Given the description of an element on the screen output the (x, y) to click on. 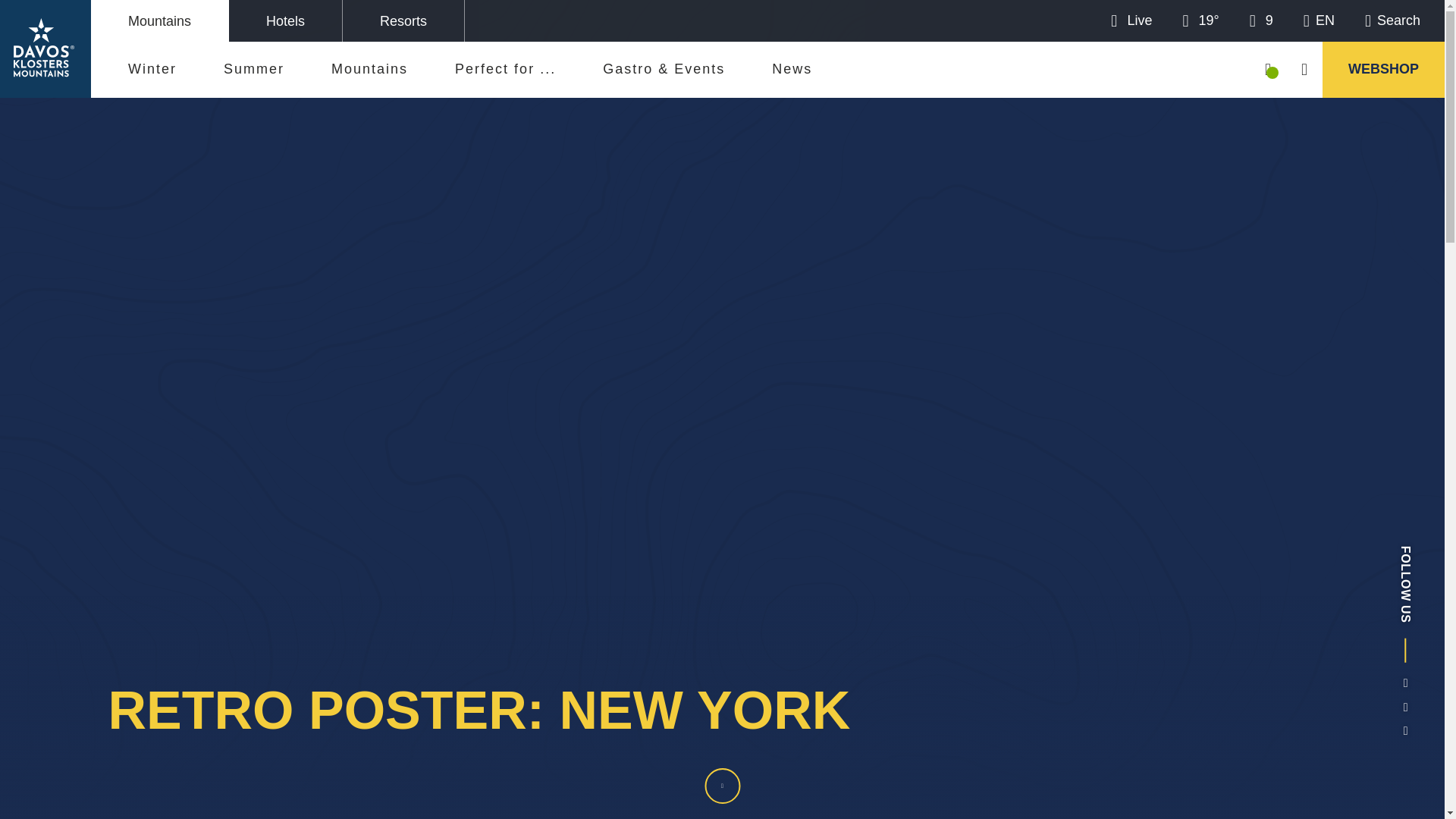
9 (1260, 19)
Hotels (285, 20)
Search (1393, 20)
EN (1319, 20)
Live (1130, 19)
Resorts (403, 20)
Mountains (159, 20)
Davo Klosters Mountains Logo (45, 48)
